Given the description of an element on the screen output the (x, y) to click on. 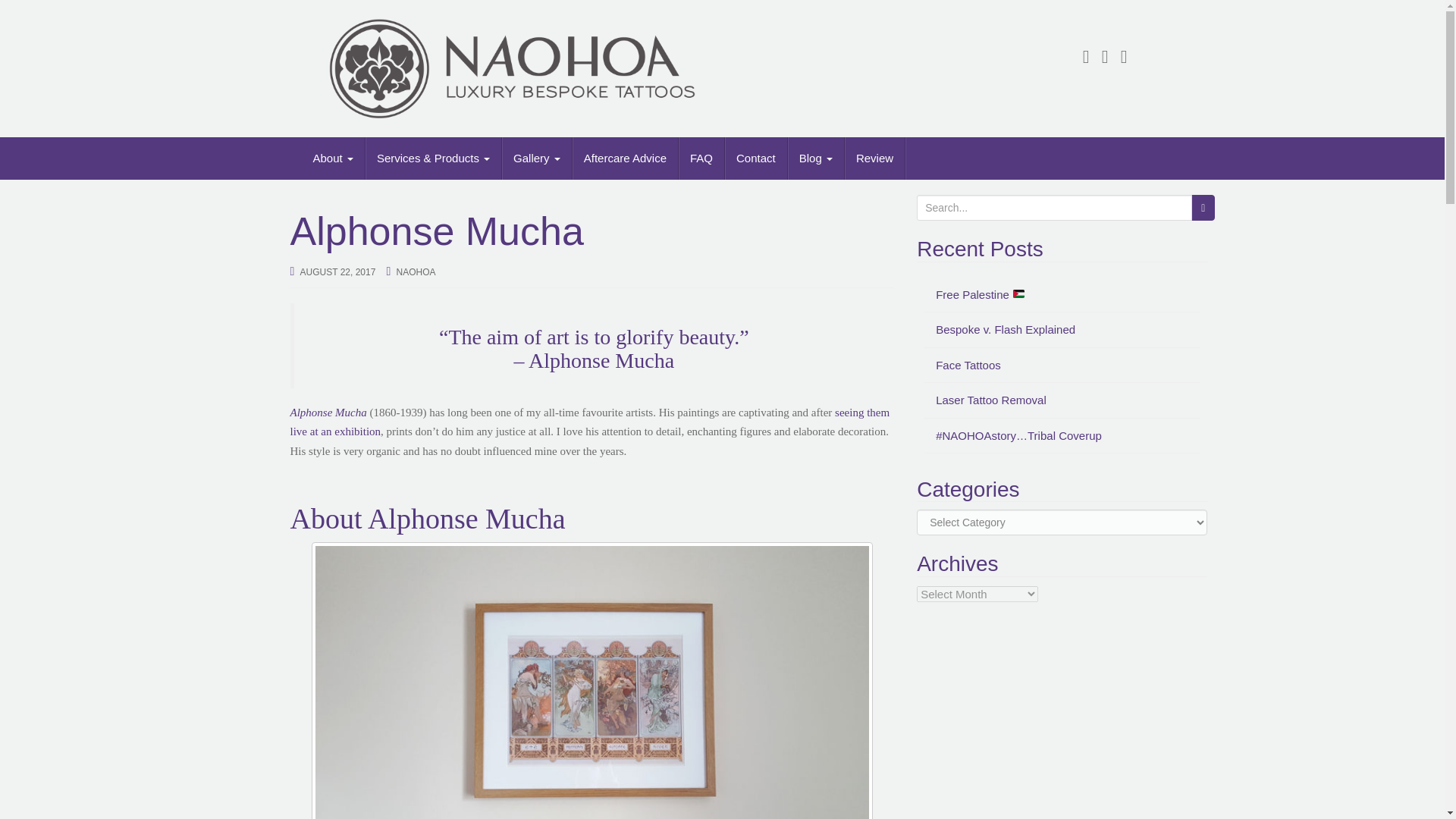
Blog (815, 158)
Mucha (350, 412)
Aftercare Advice (625, 158)
About (333, 158)
seeing them live at an exhibition (589, 422)
About (333, 158)
FAQ (701, 158)
Alphonse (310, 412)
AUGUST 22, 2017 (337, 271)
NAOHOA (415, 271)
Gallery (537, 158)
Contact (756, 158)
Review (874, 158)
Gallery (537, 158)
